Given the description of an element on the screen output the (x, y) to click on. 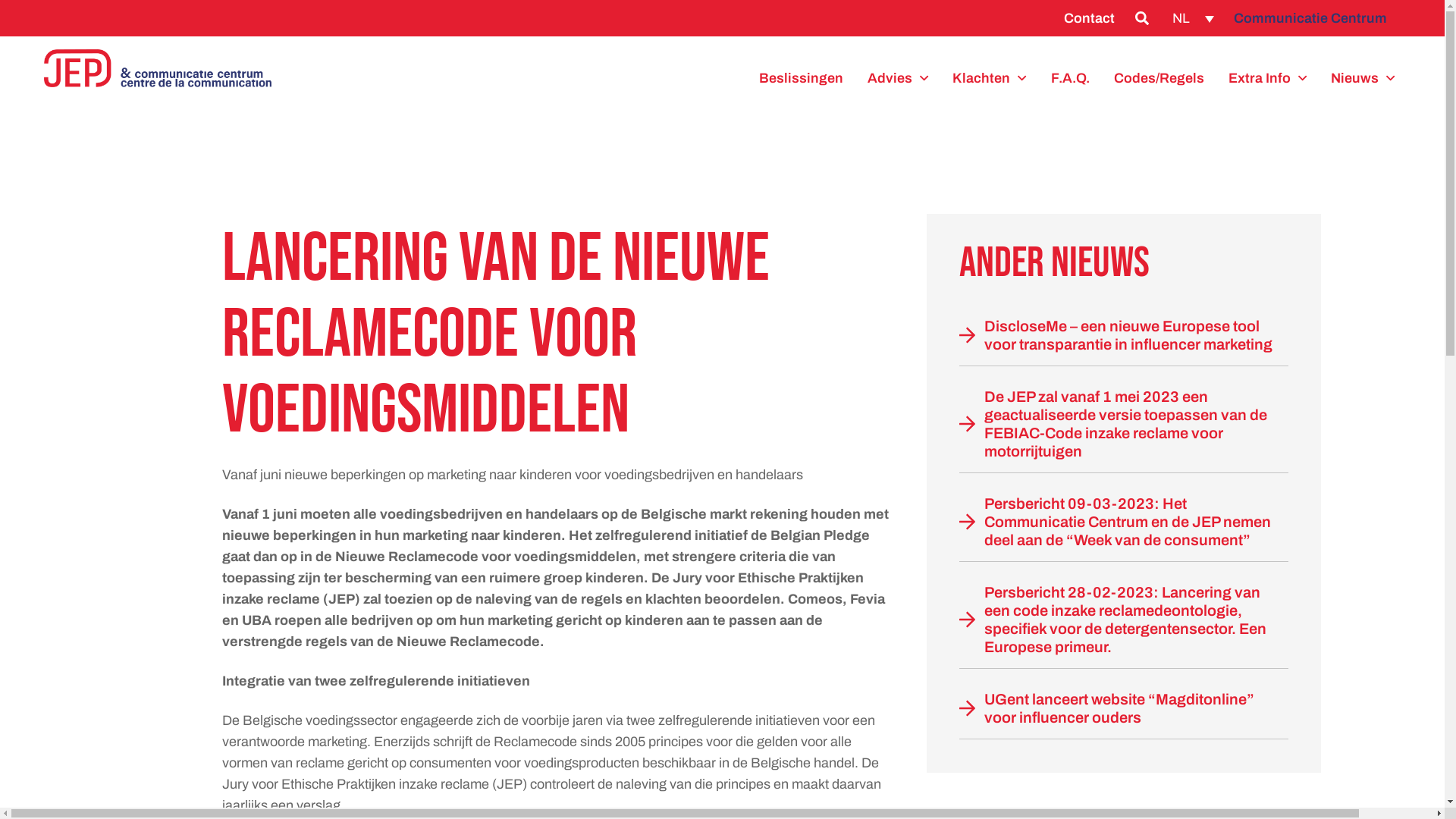
Advies Element type: text (897, 77)
NL Element type: text (1192, 17)
Extra Info Element type: text (1267, 77)
F.A.Q. Element type: text (1070, 77)
Beslissingen Element type: text (801, 77)
Contact Element type: text (1088, 18)
Klachten Element type: text (989, 77)
Nieuws Element type: text (1362, 77)
Communicatie Centrum Element type: text (1309, 18)
Codes/Regels Element type: text (1158, 77)
